Given the description of an element on the screen output the (x, y) to click on. 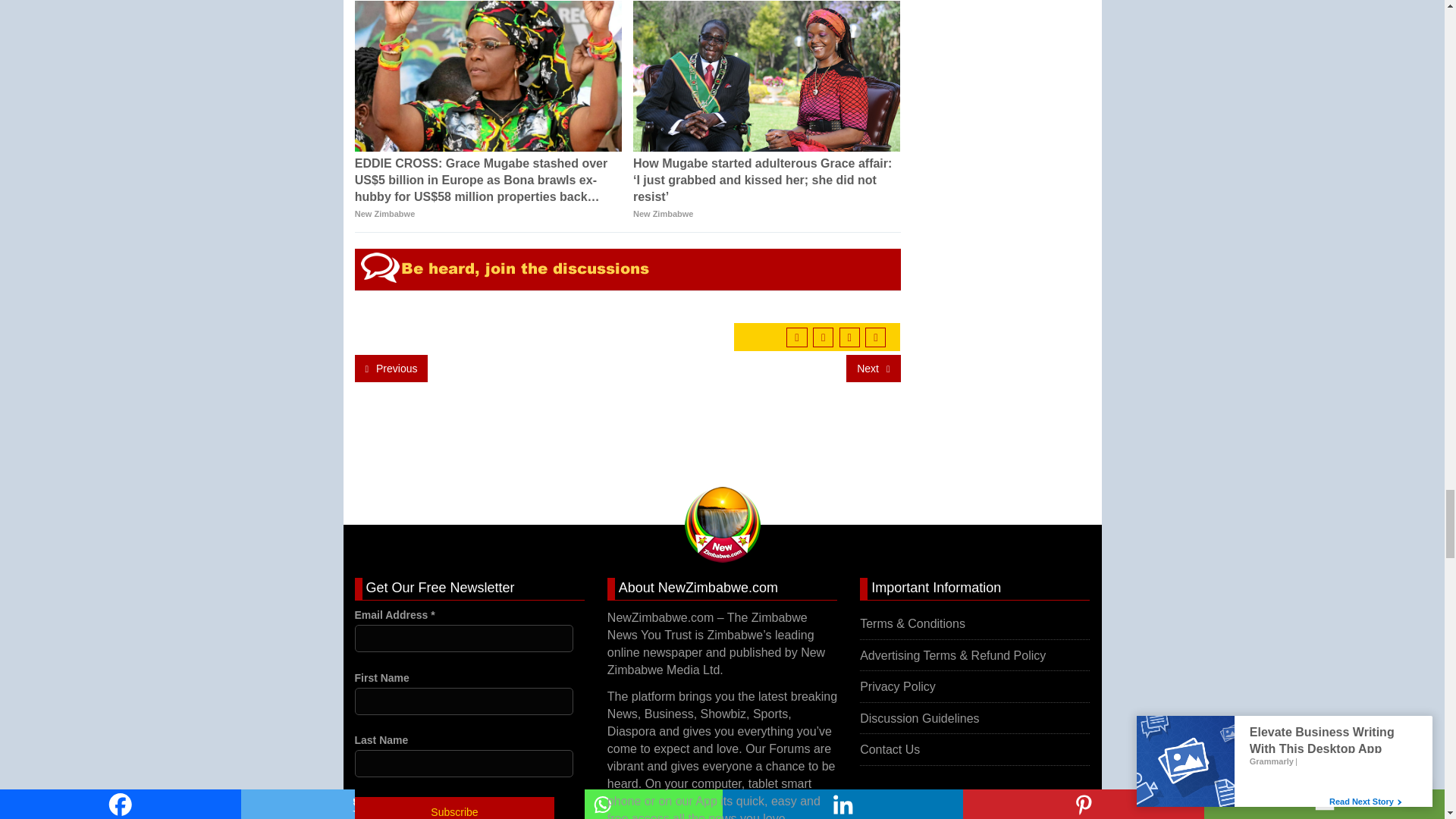
Subscribe (454, 807)
